Given the description of an element on the screen output the (x, y) to click on. 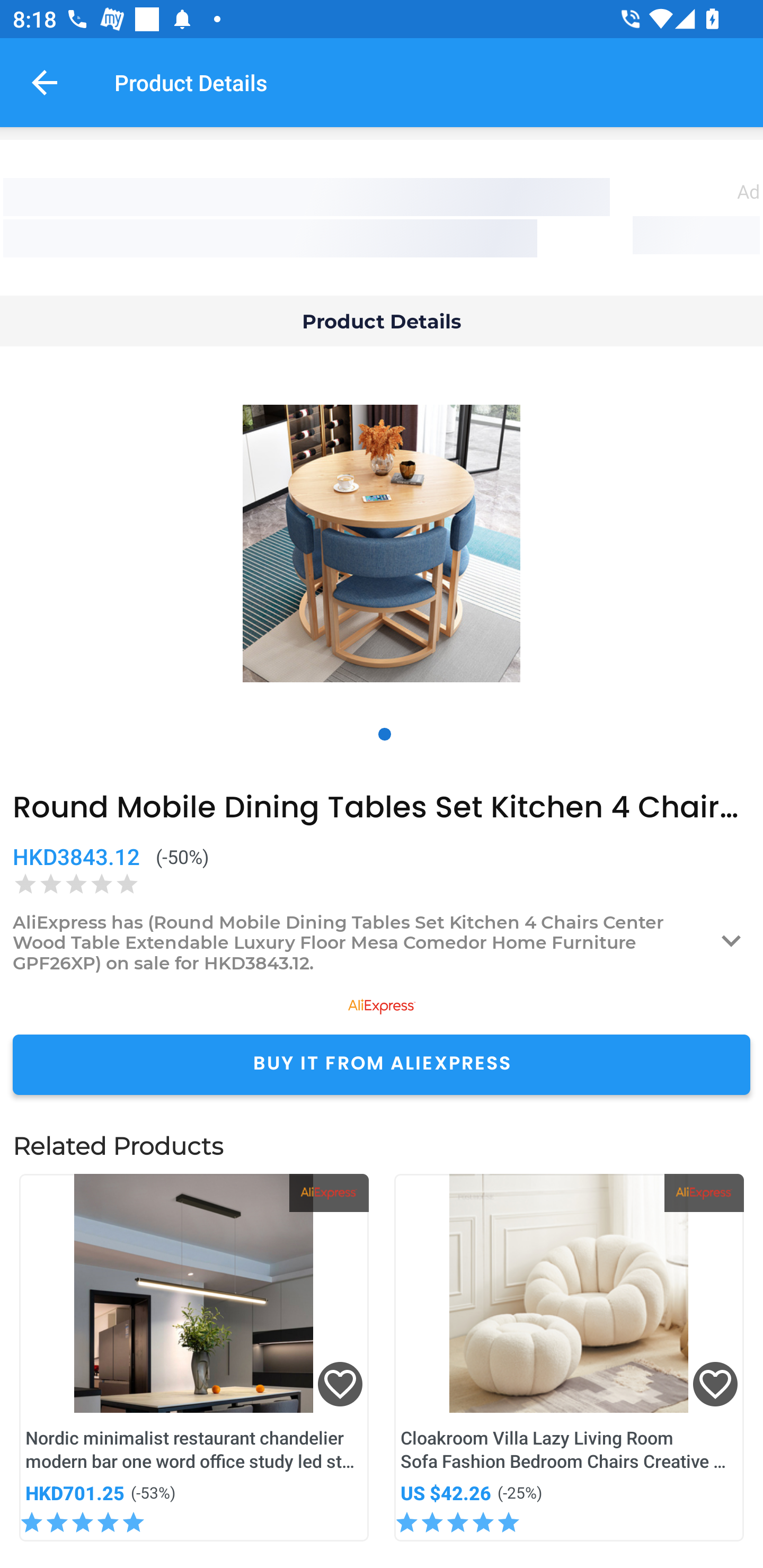
Navigate up (44, 82)
BUY IT FROM ALIEXPRESS (381, 1064)
